Given the description of an element on the screen output the (x, y) to click on. 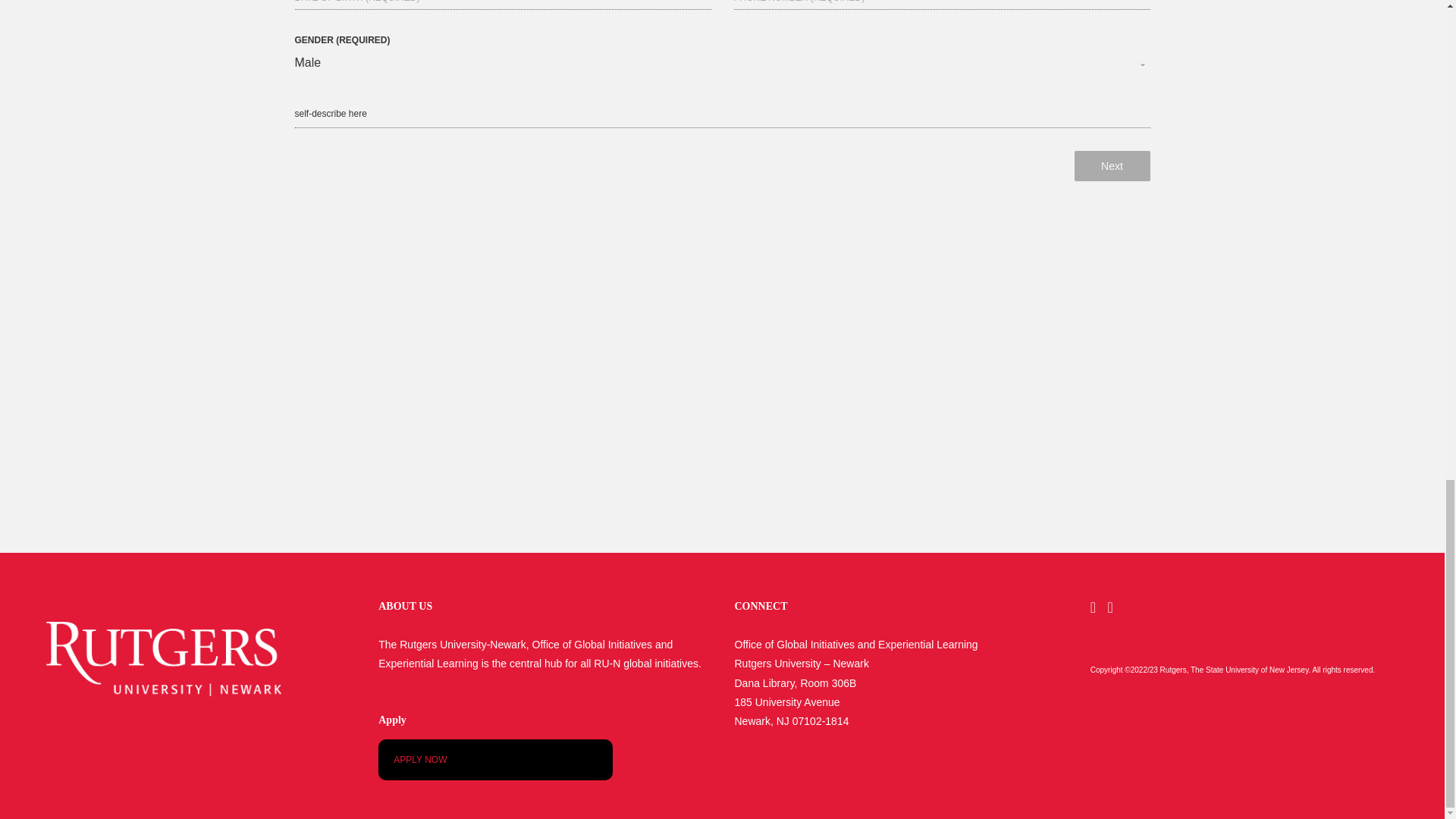
self-describe here (722, 113)
